Given the description of an element on the screen output the (x, y) to click on. 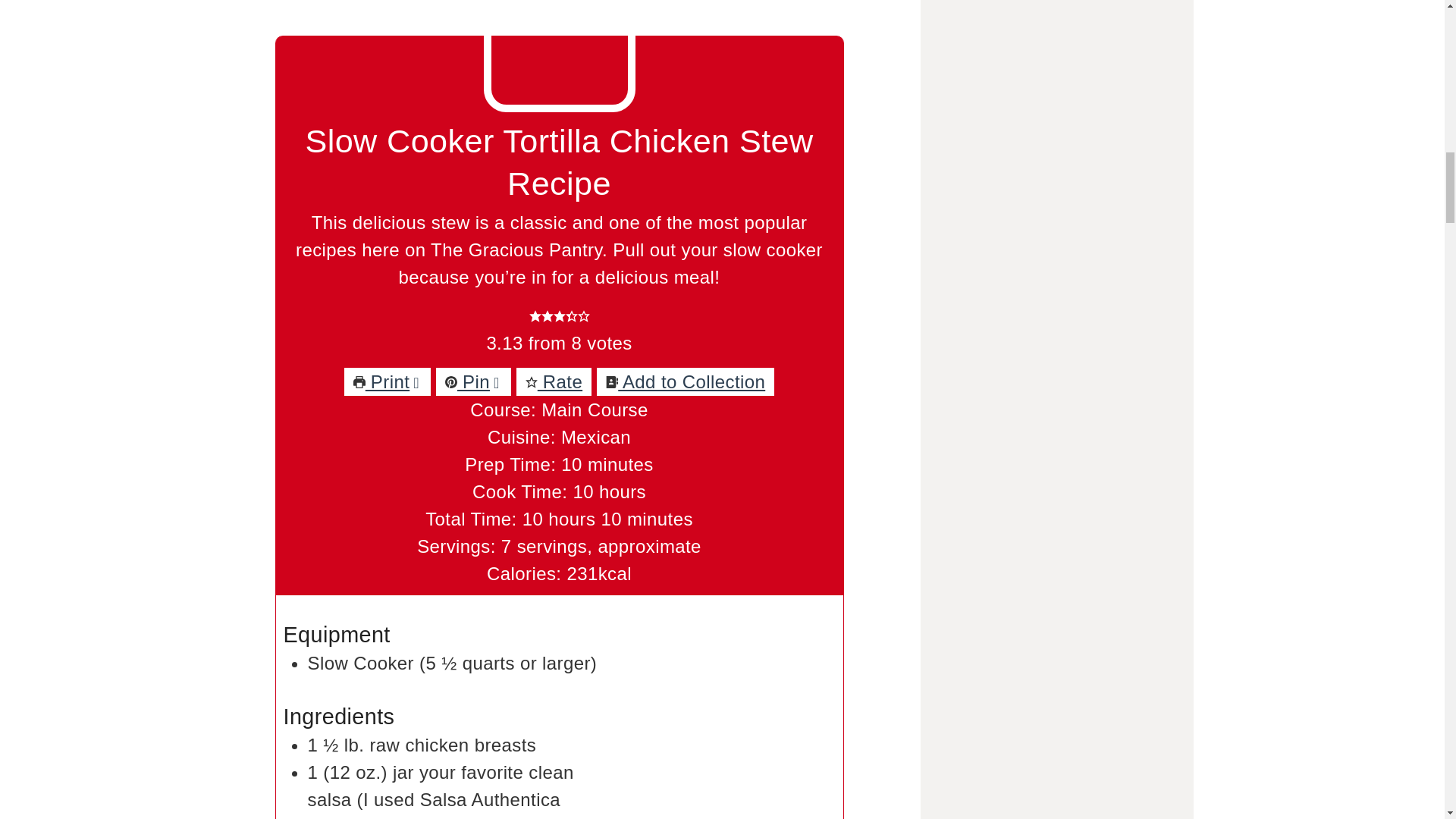
 External link. Opens in a new tab. (473, 381)
